Given the description of an element on the screen output the (x, y) to click on. 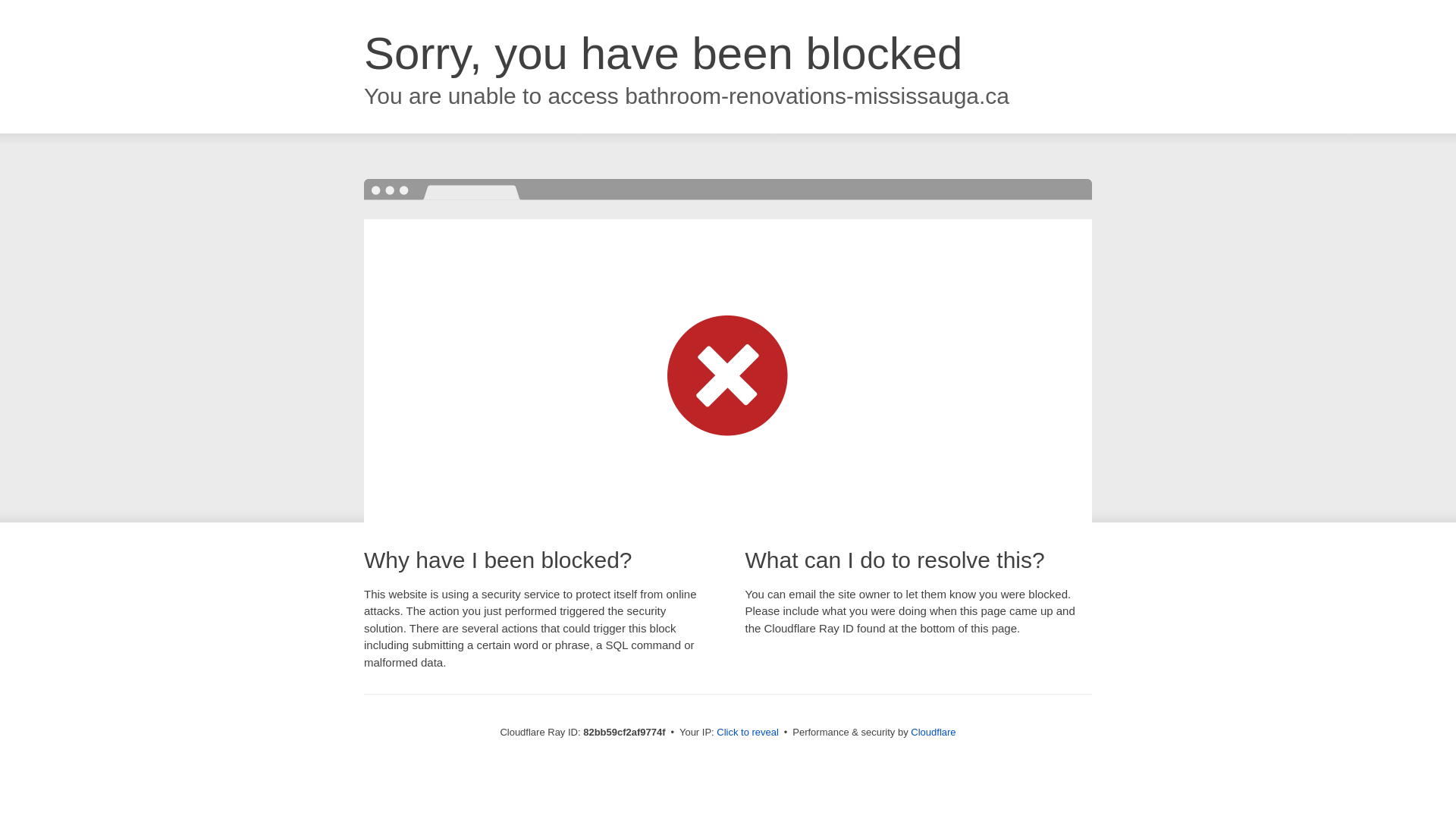
Cloudflare Element type: text (932, 731)
Click to reveal Element type: text (747, 732)
